Given the description of an element on the screen output the (x, y) to click on. 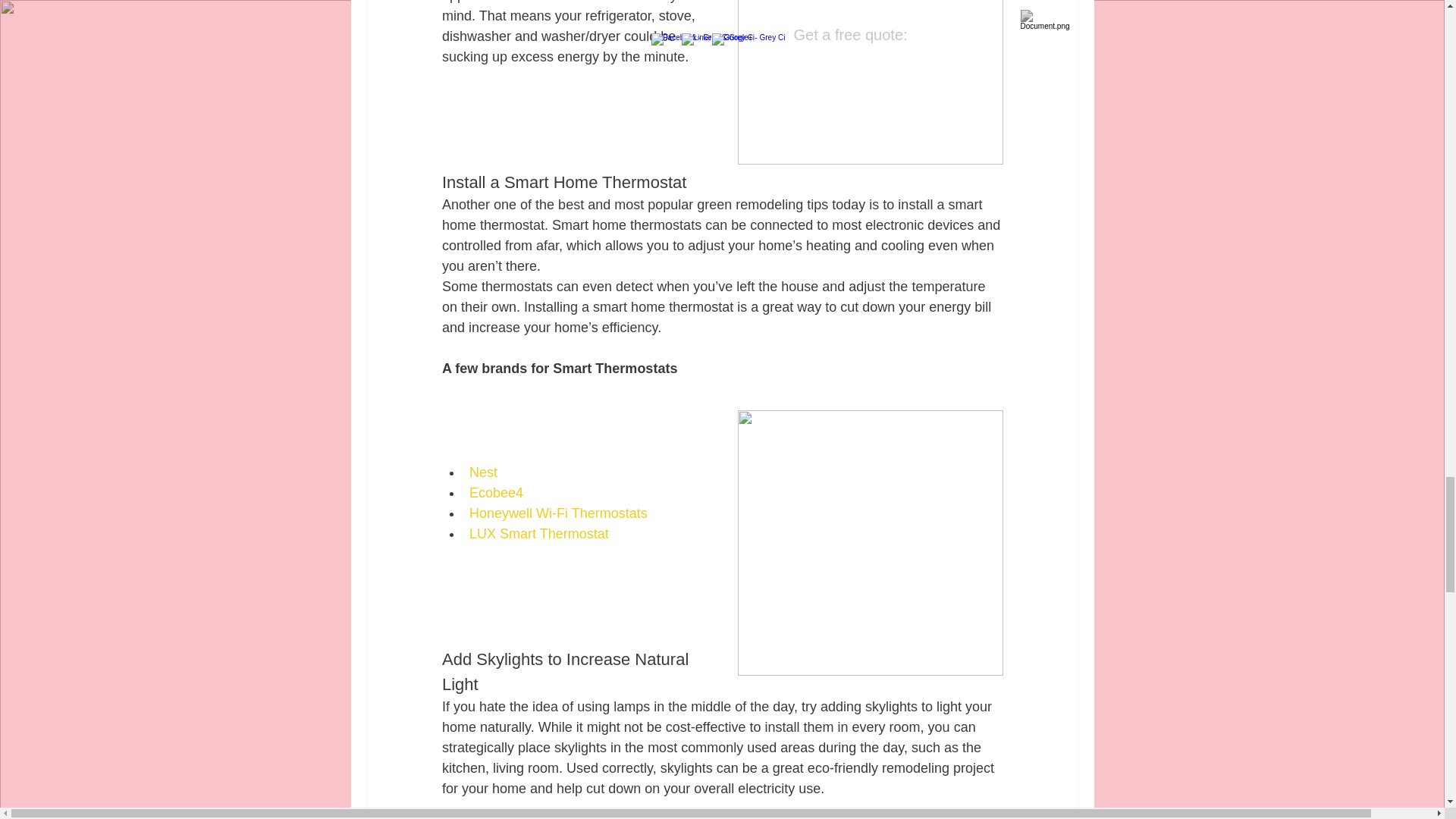
Nest (482, 472)
Honeywell Wi-Fi Thermostats (557, 513)
Ecobee4 (495, 492)
LUX Smart Thermostat (538, 533)
